Given the description of an element on the screen output the (x, y) to click on. 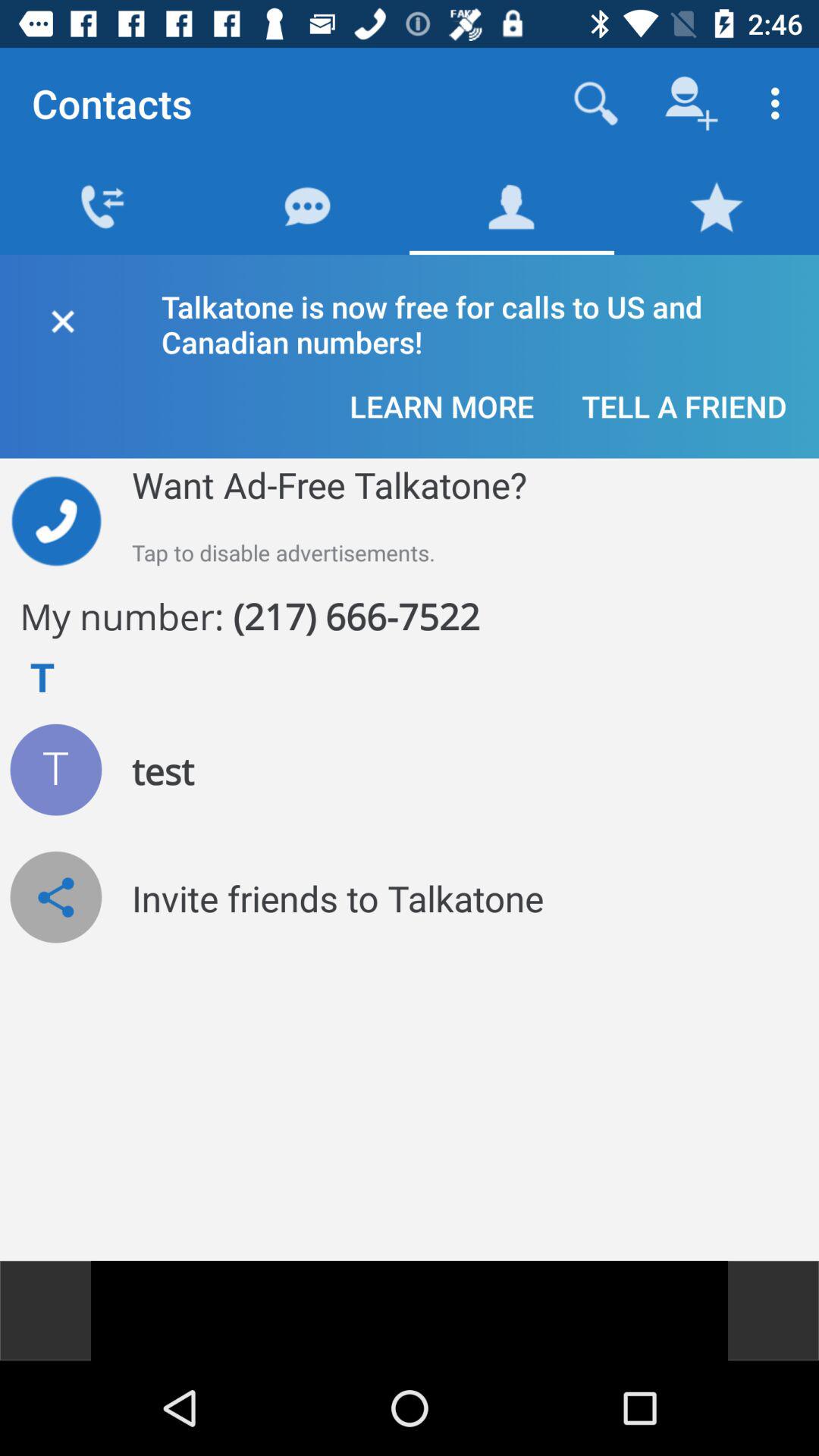
search (595, 103)
